Given the description of an element on the screen output the (x, y) to click on. 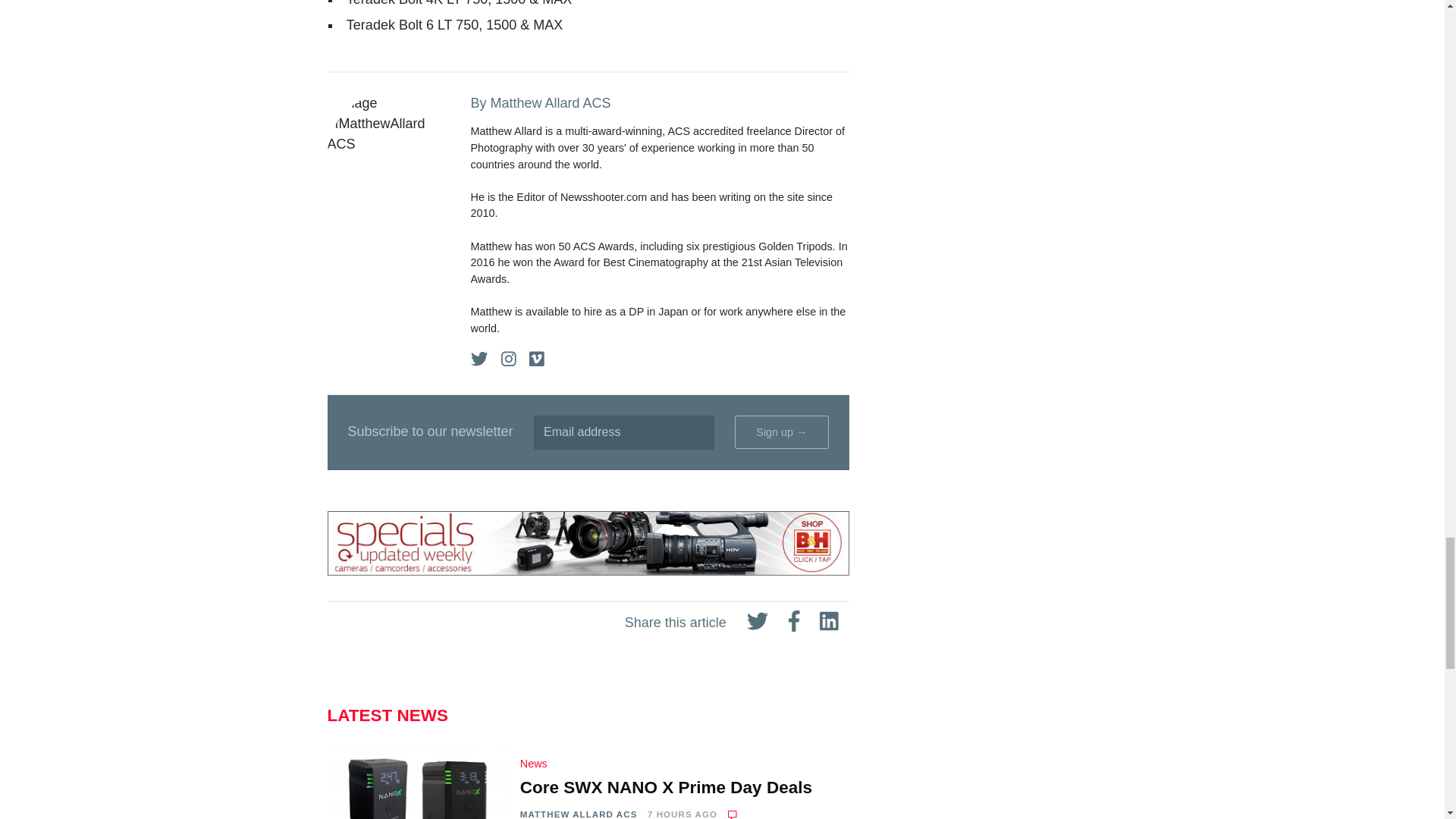
By Matthew Allard ACS (659, 103)
